Given the description of an element on the screen output the (x, y) to click on. 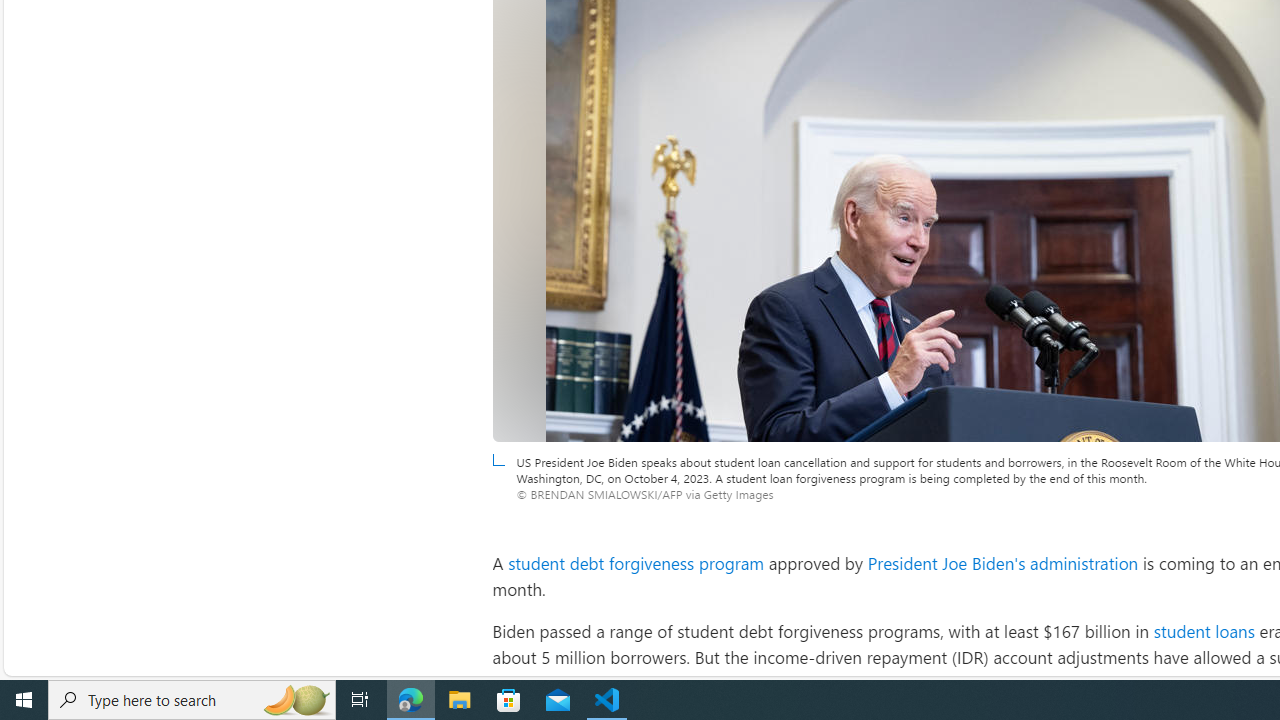
President Joe Biden's administration (1002, 562)
student debt forgiveness program (636, 562)
student loans (1203, 630)
